Given the description of an element on the screen output the (x, y) to click on. 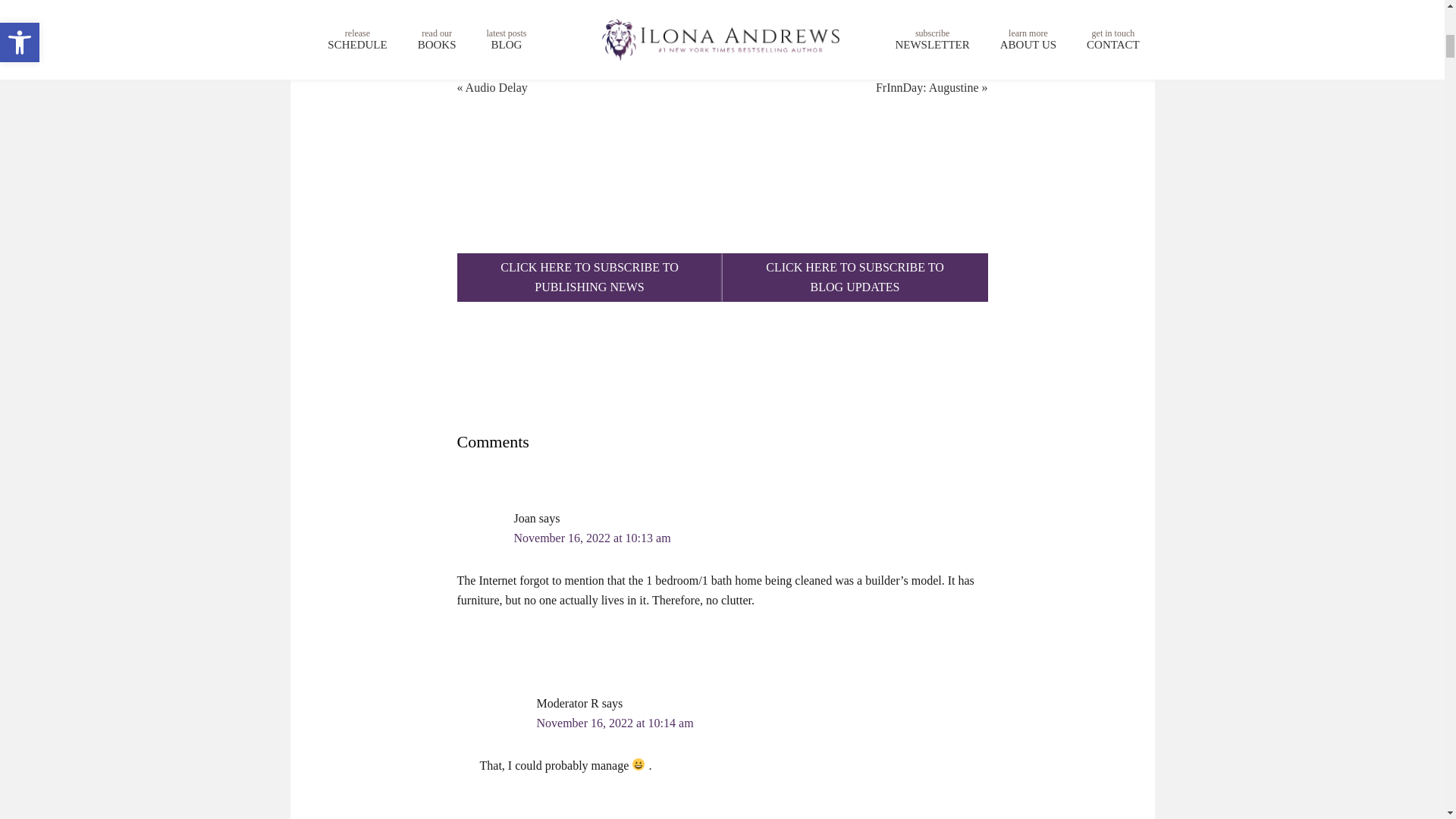
November 16, 2022 at 10:14 am (589, 277)
November 16, 2022 at 10:13 am (615, 722)
Privacy Policy (854, 277)
